Given the description of an element on the screen output the (x, y) to click on. 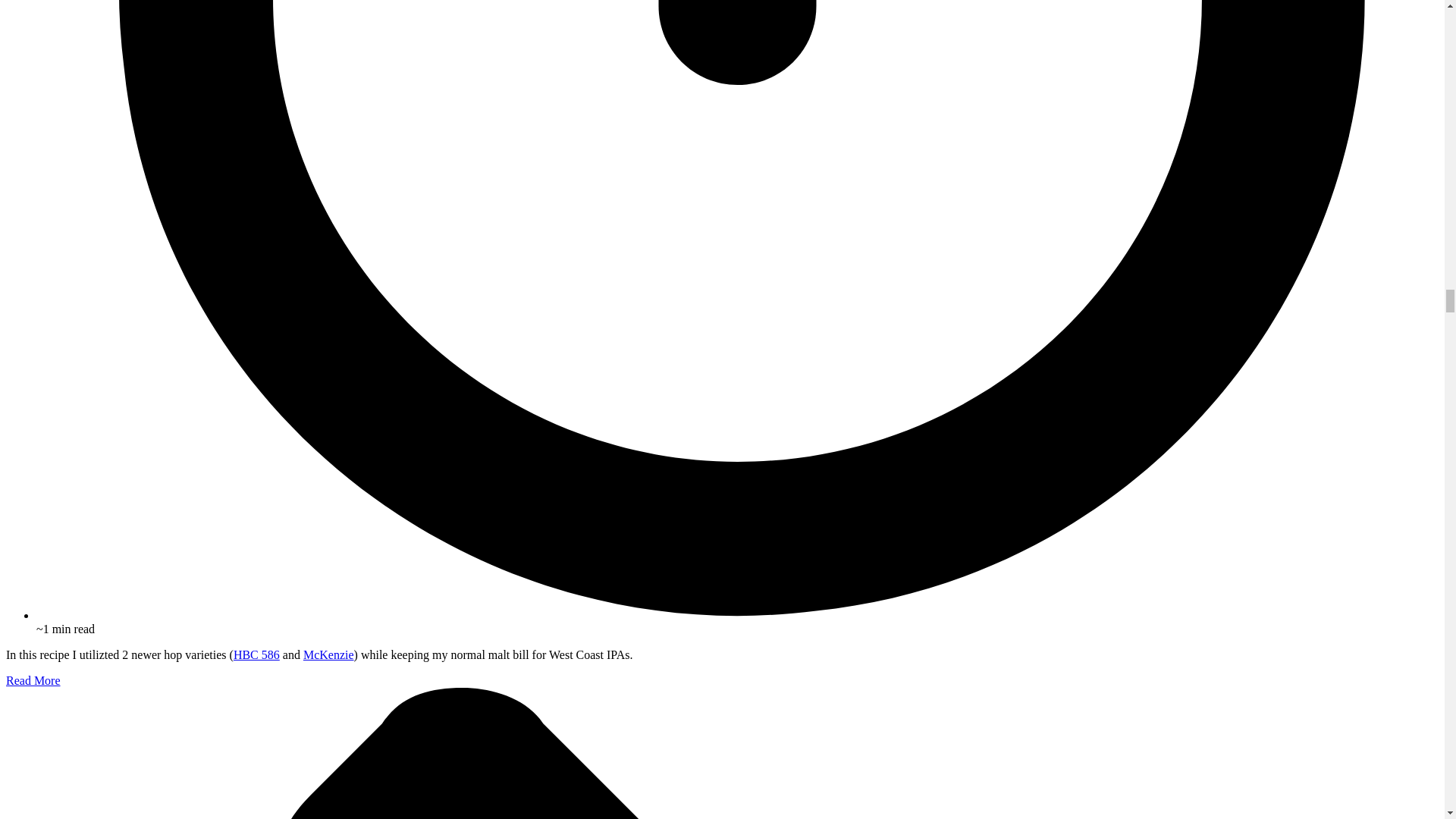
McKenzie (327, 654)
HBC 586 (255, 654)
